Given the description of an element on the screen output the (x, y) to click on. 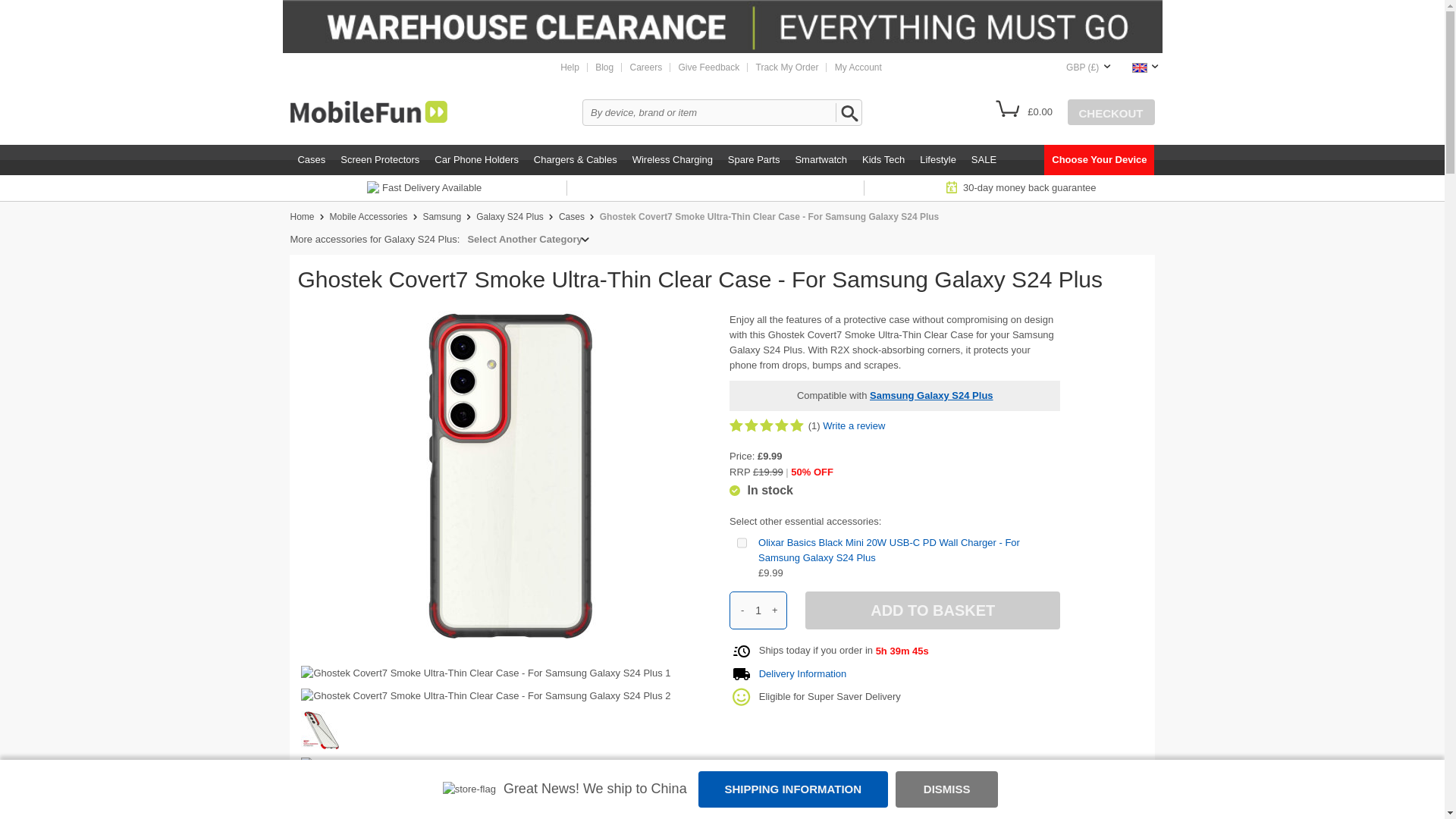
FLASH SALE (721, 26)
Customer reviews powered by Trustpilot (721, 187)
Samsung Galaxy S24 Plus (509, 216)
CHECKOUT (1110, 112)
Mobile Fun (367, 111)
Add to Basket (932, 610)
Cases (311, 159)
Qty (758, 610)
Mobile Accessories (368, 216)
Search (847, 112)
My Account (858, 67)
Careers (646, 67)
Samsung Galaxy S24 Plus Cases (572, 216)
Blog (603, 67)
